Given the description of an element on the screen output the (x, y) to click on. 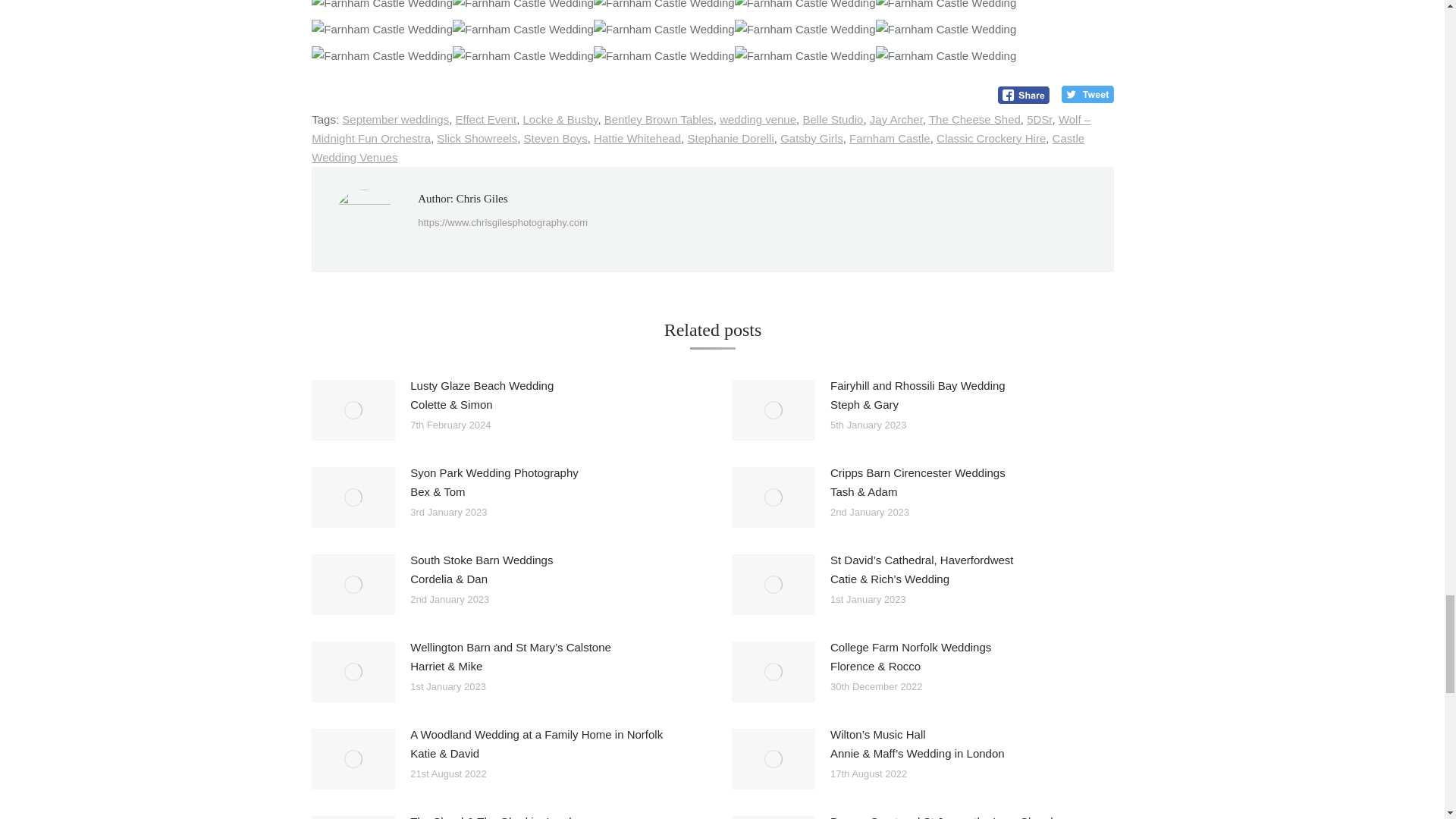
Facebook Share (1023, 95)
Tweet (1087, 94)
